Given the description of an element on the screen output the (x, y) to click on. 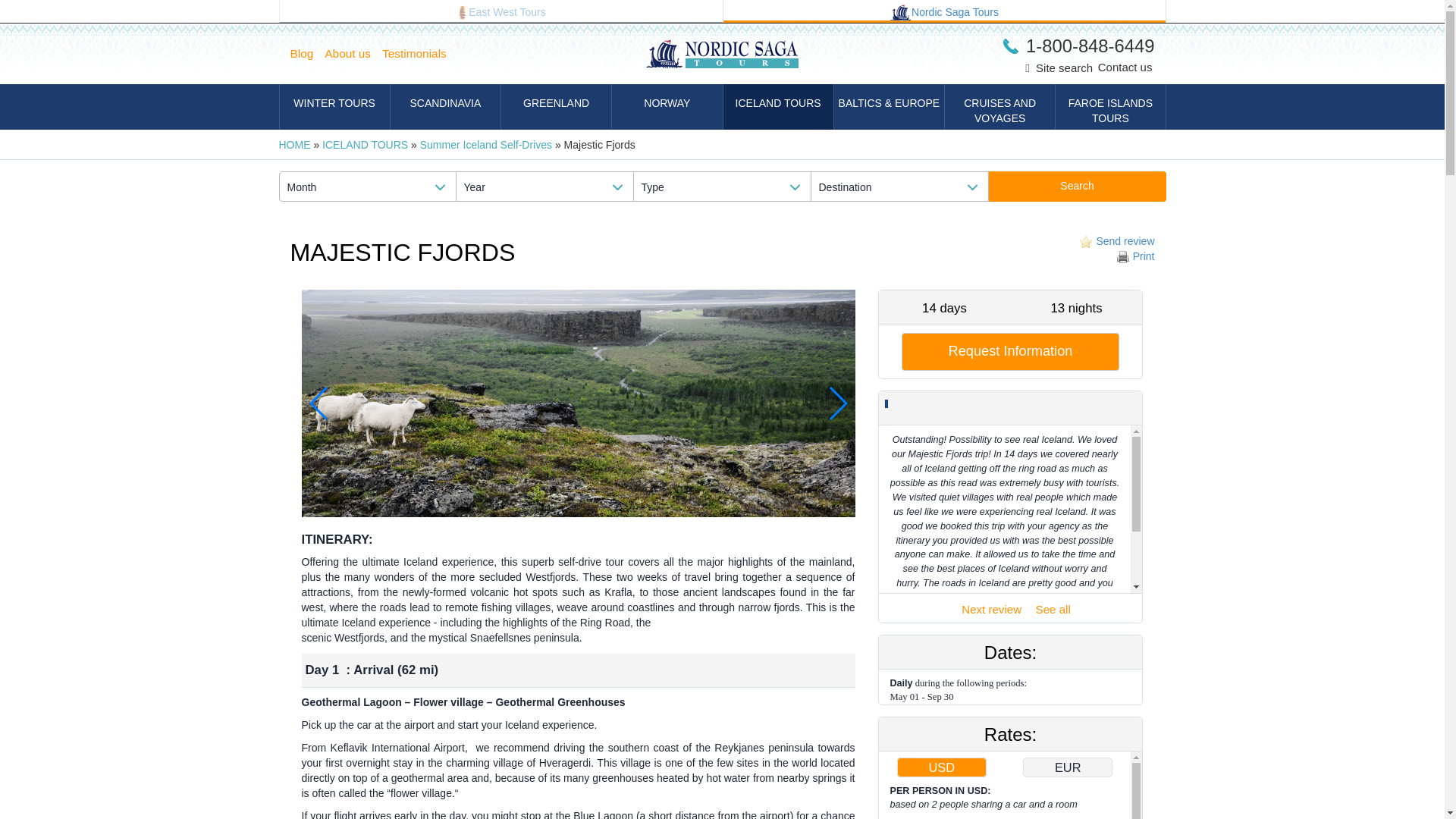
Send review (1114, 241)
FAROE ISLANDS (1109, 106)
Nordic Saga Tours (944, 11)
WINTER TOURS (333, 106)
Summer Iceland Self-Drives (485, 144)
HOME (295, 144)
NORDICSAGA.COM (944, 11)
1-800-848-6449 (1078, 46)
About us (352, 53)
Testimonials (419, 53)
scandinavian tours (900, 13)
Blog (306, 53)
East West Tours (500, 11)
ICELAND TOURS (364, 144)
Contact us (1125, 66)
